Given the description of an element on the screen output the (x, y) to click on. 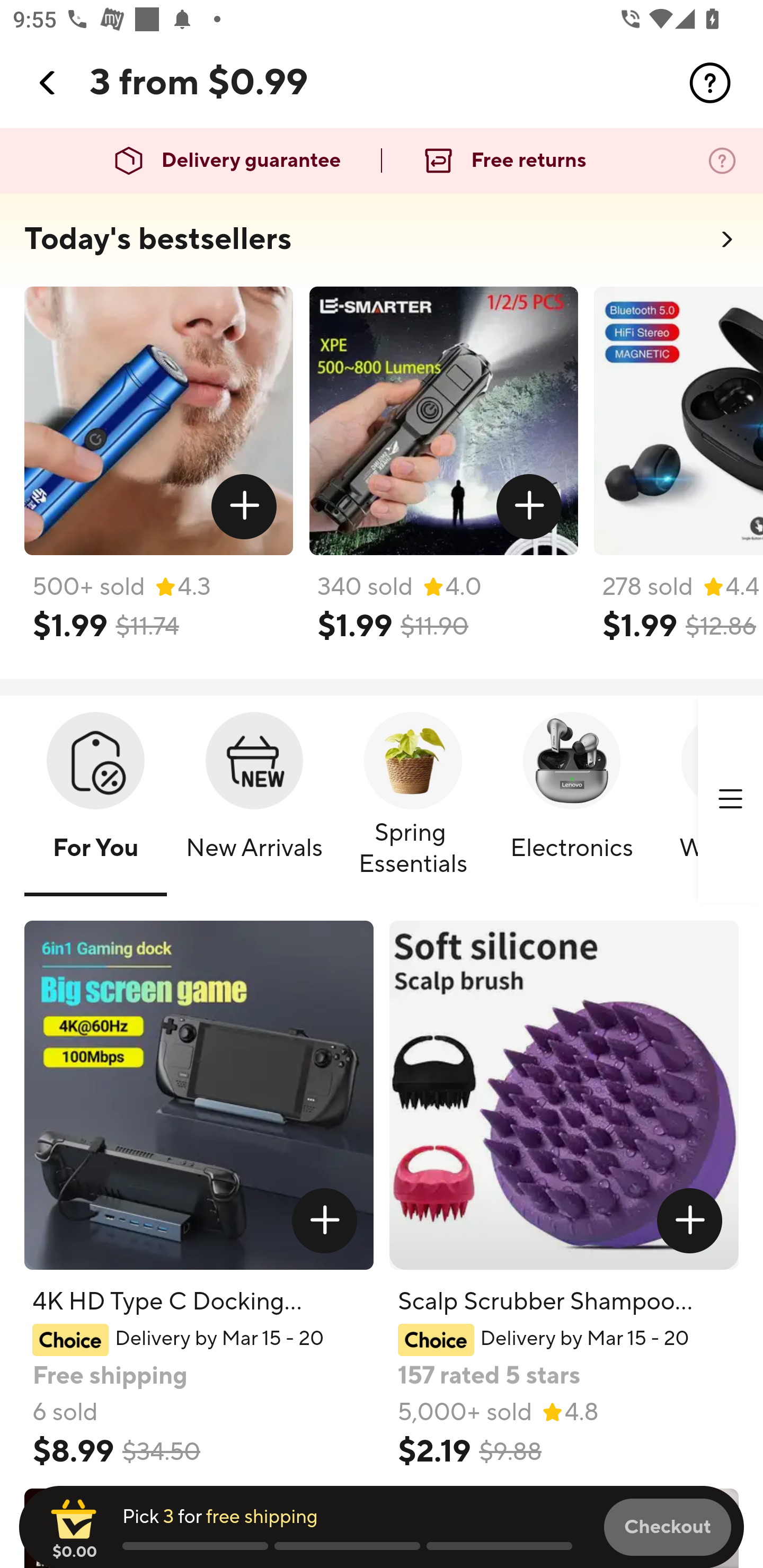
 (710, 82)
 (48, 82)
Today's bestsellers  Today's bestsellers  (381, 244)
Today's bestsellers (157, 239)
 (244, 506)
 (529, 506)
 (730, 799)
144x144.png_ For You (95, 800)
144x144.png_ New Arrivals (254, 800)
200x200.png_ Spring Essentials (412, 800)
300x300.png_ Electronics (571, 800)
 (323, 1220)
 (689, 1220)
